Given the description of an element on the screen output the (x, y) to click on. 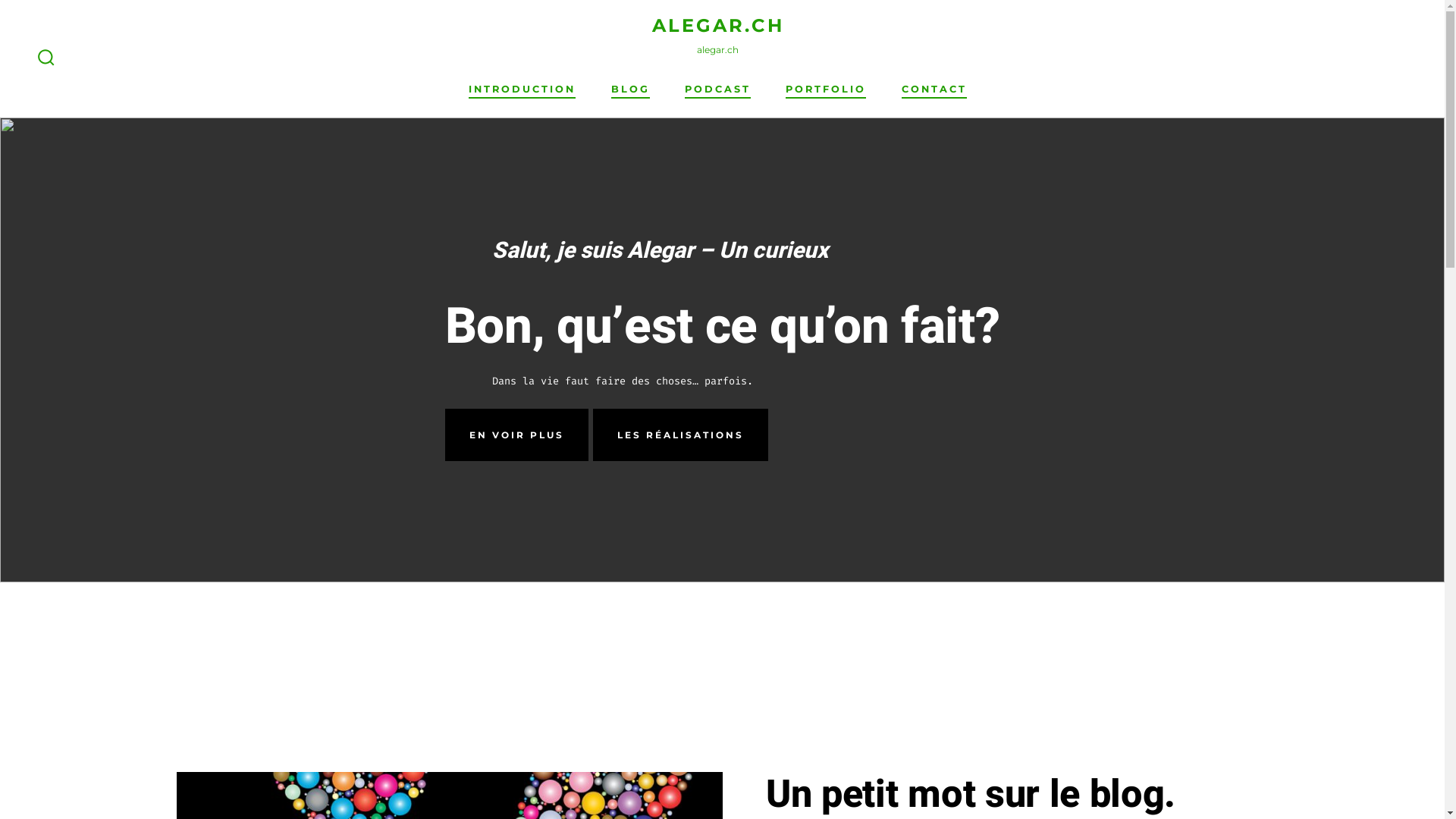
BASCULE RECHERCHER Element type: text (45, 58)
PODCAST Element type: text (717, 89)
EN VOIR PLUS Element type: text (516, 434)
PORTFOLIO Element type: text (825, 89)
CONTACT Element type: text (933, 89)
BLOG Element type: text (630, 89)
INTRODUCTION Element type: text (521, 89)
ALEGAR.CH Element type: text (718, 25)
